Given the description of an element on the screen output the (x, y) to click on. 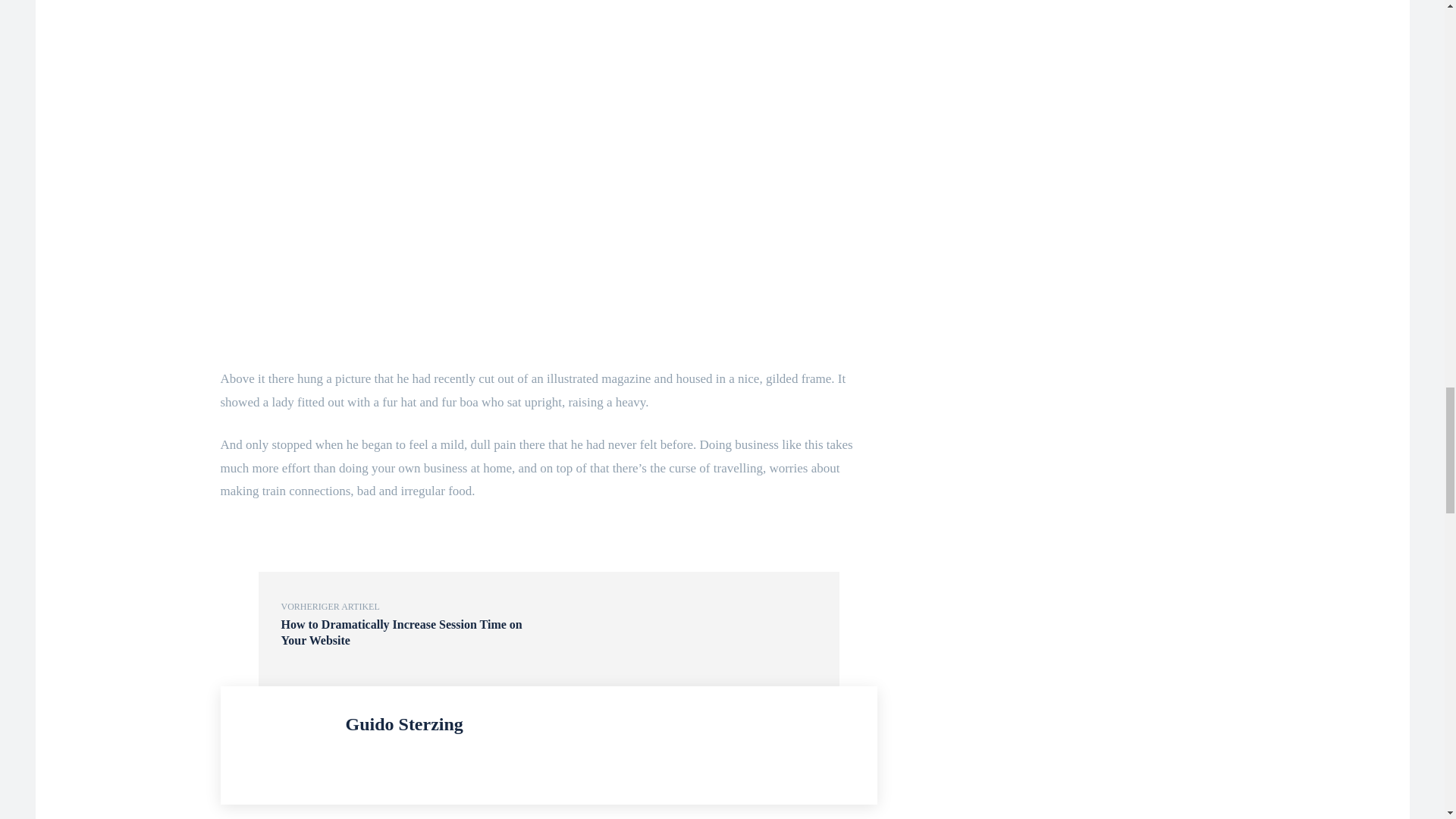
Guido Sterzing (286, 745)
